Given the description of an element on the screen output the (x, y) to click on. 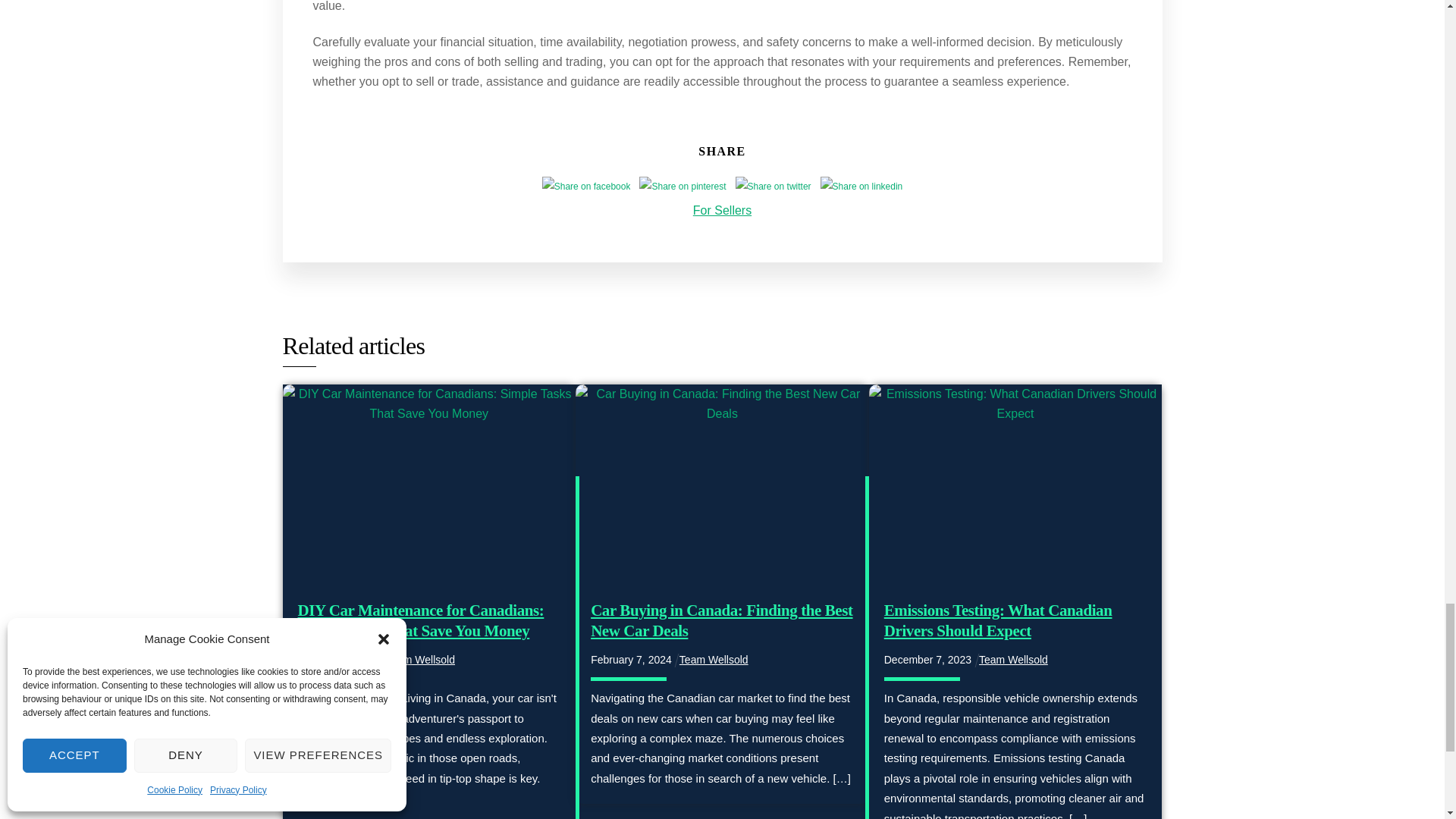
Team Wellsold (713, 659)
facebook (585, 185)
Team Wellsold (419, 659)
Emissions Testing: What Canadian Drivers Should Expect (997, 620)
linkedin (861, 185)
Car Buying in Canada: Finding the Best New Car Deals (721, 620)
Team Wellsold (1013, 659)
twitter (772, 185)
emission testing Canada (1015, 484)
